Given the description of an element on the screen output the (x, y) to click on. 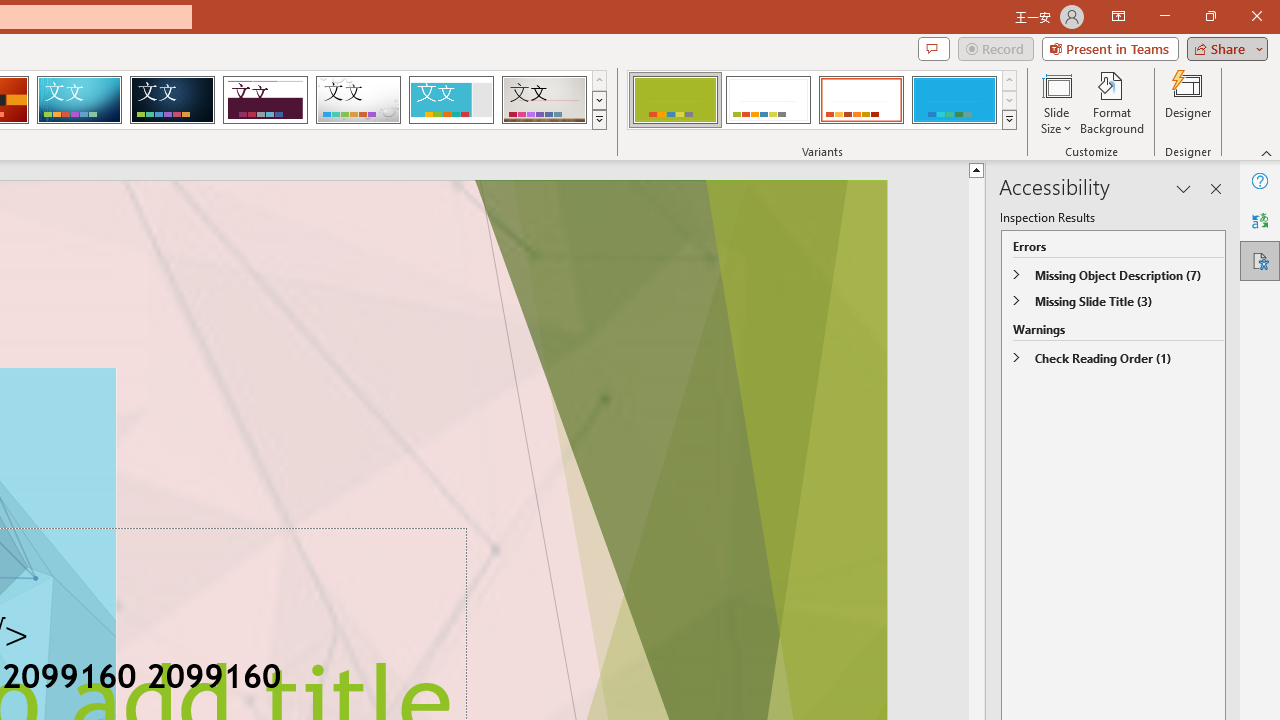
Basis Variant 4 (953, 100)
Slide Size (1056, 102)
Variants (1009, 120)
Dividend (265, 100)
Basis Variant 1 (674, 100)
Translator (1260, 220)
AutomationID: ThemeVariantsGallery (822, 99)
